Given the description of an element on the screen output the (x, y) to click on. 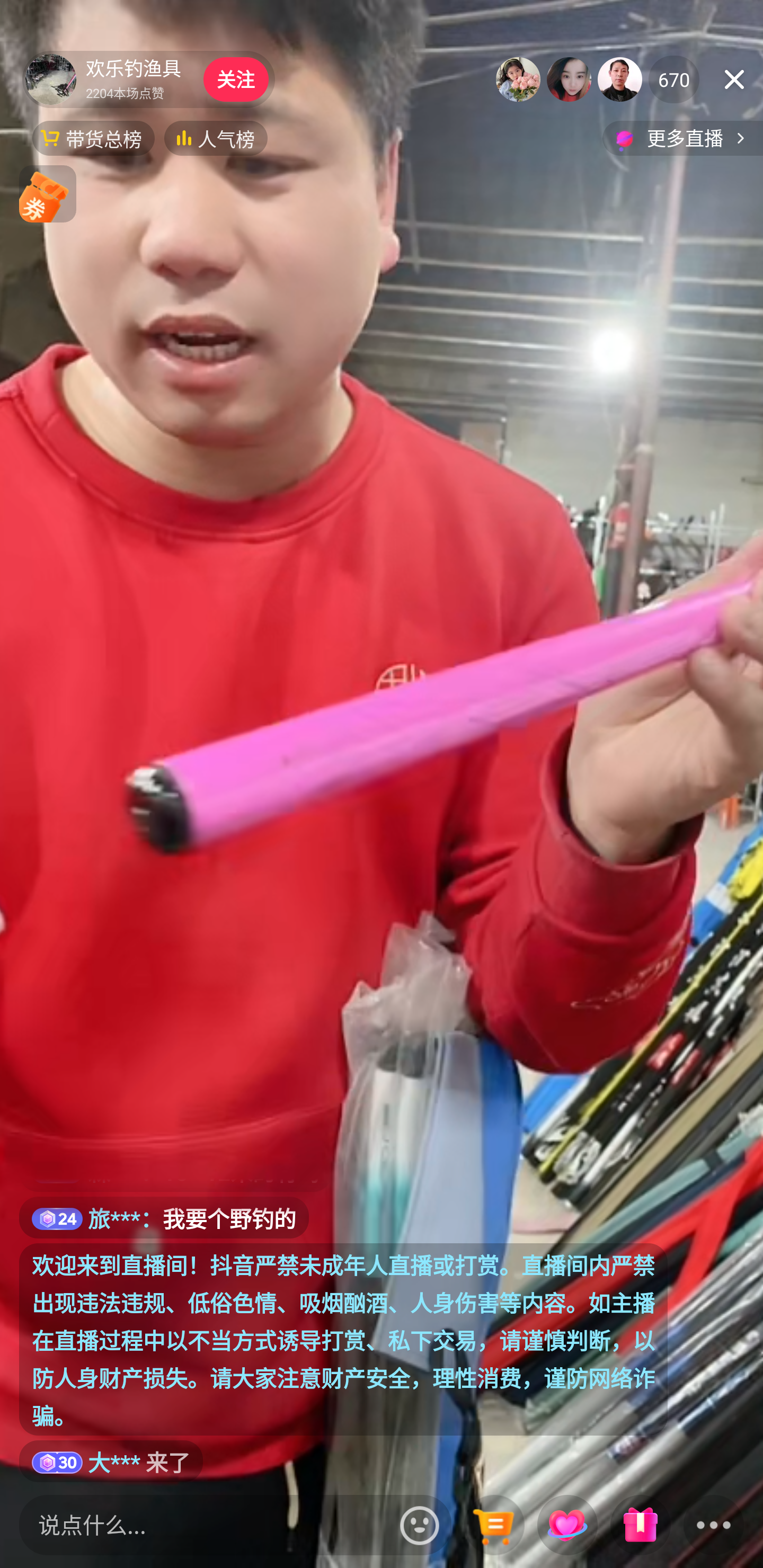
主播欢乐钓渔具 2204本场点赞  欢乐钓渔具 2204本场点赞 关注 (148, 79)
670 670在线观众 (673, 78)
关注 (235, 78)
关闭 (733, 78)
带货总榜，按钮 (93, 137)
人气榜，按钮 (215, 137)
更多直播 (682, 137)
优惠券 按钮 (47, 193)
说点什么... (205, 1524)
表情入口 (419, 1524)
商品列表 (493, 1526)
小心心 (567, 1526)
礼物 (640, 1526)
更多面板 按钮 (713, 1526)
